Given the description of an element on the screen output the (x, y) to click on. 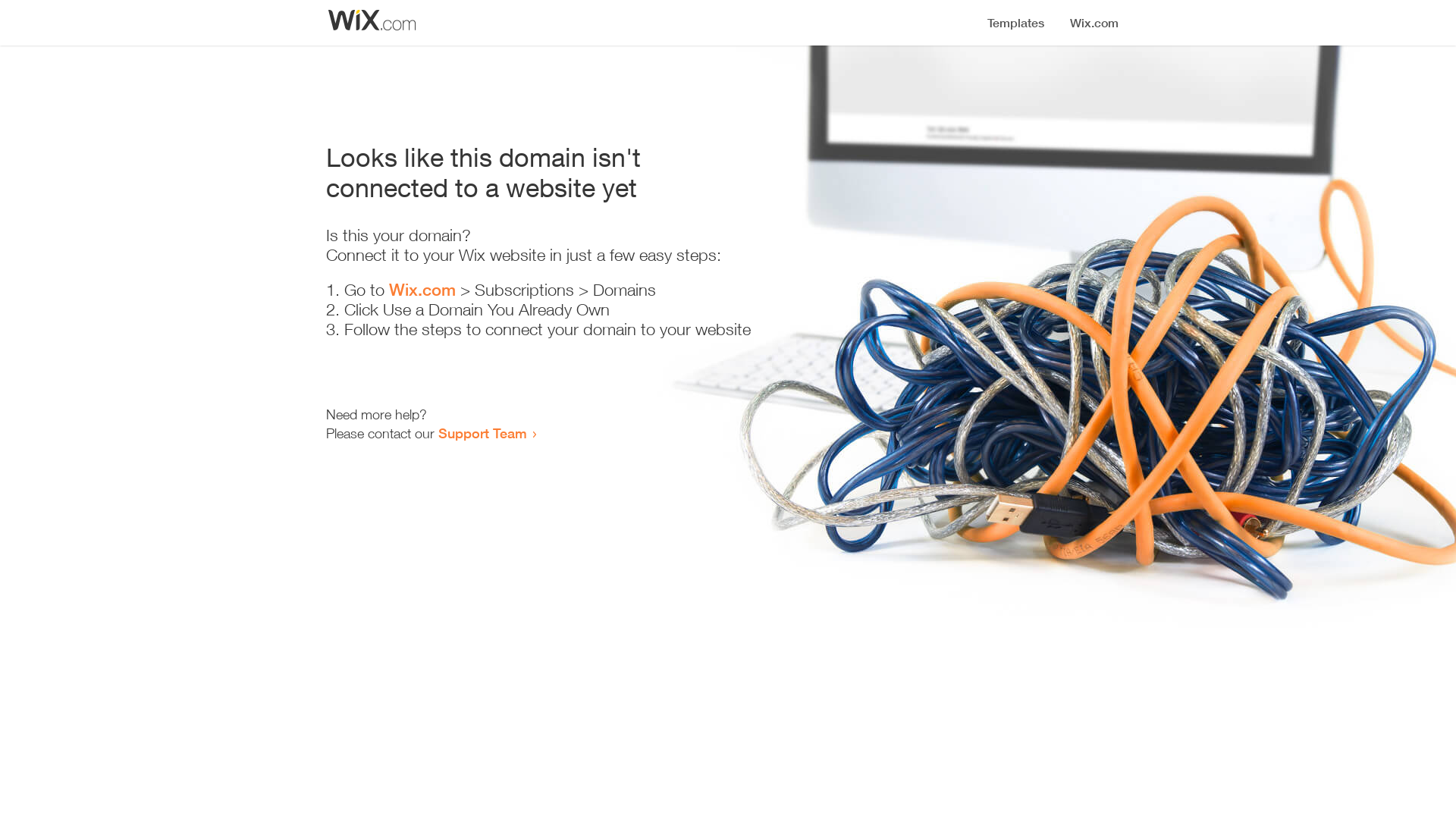
Support Team Element type: text (482, 432)
Wix.com Element type: text (422, 289)
